Given the description of an element on the screen output the (x, y) to click on. 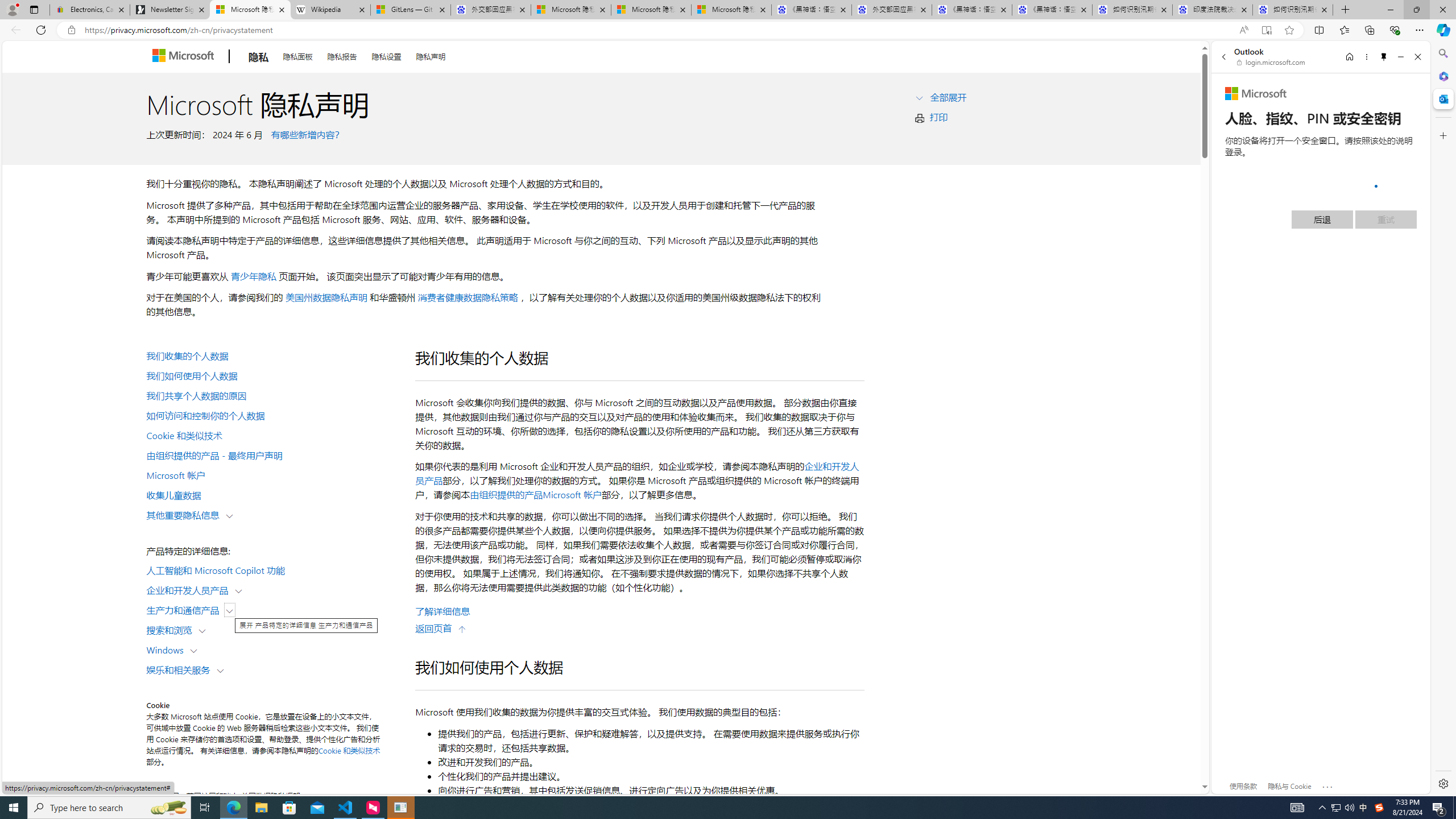
login.microsoft.com (1271, 61)
Electronics, Cars, Fashion, Collectibles & More | eBay (90, 9)
